Given the description of an element on the screen output the (x, y) to click on. 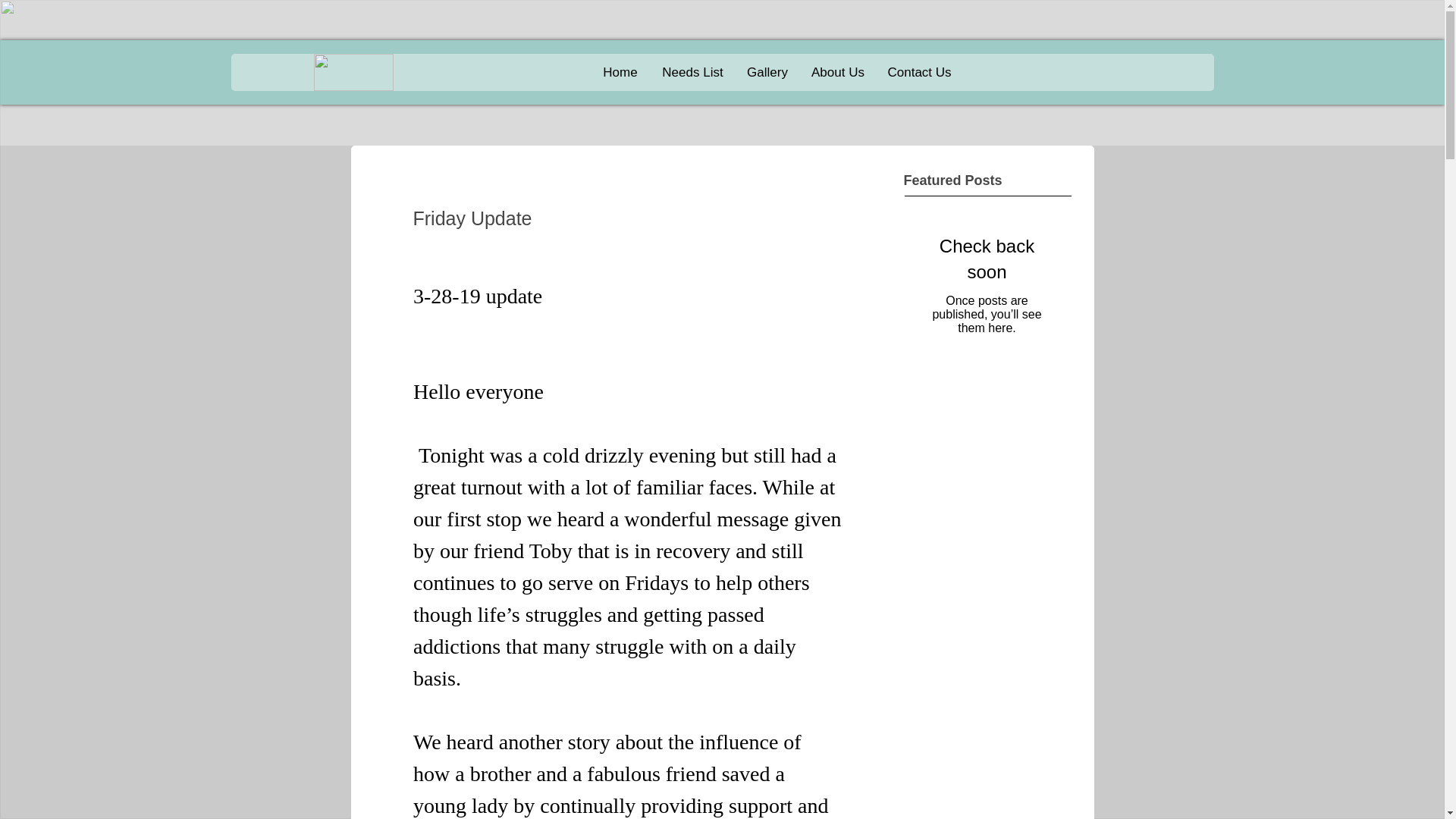
Needs List (692, 72)
Contact Us (919, 72)
About Us (837, 72)
Home (619, 72)
Gallery (767, 72)
